Given the description of an element on the screen output the (x, y) to click on. 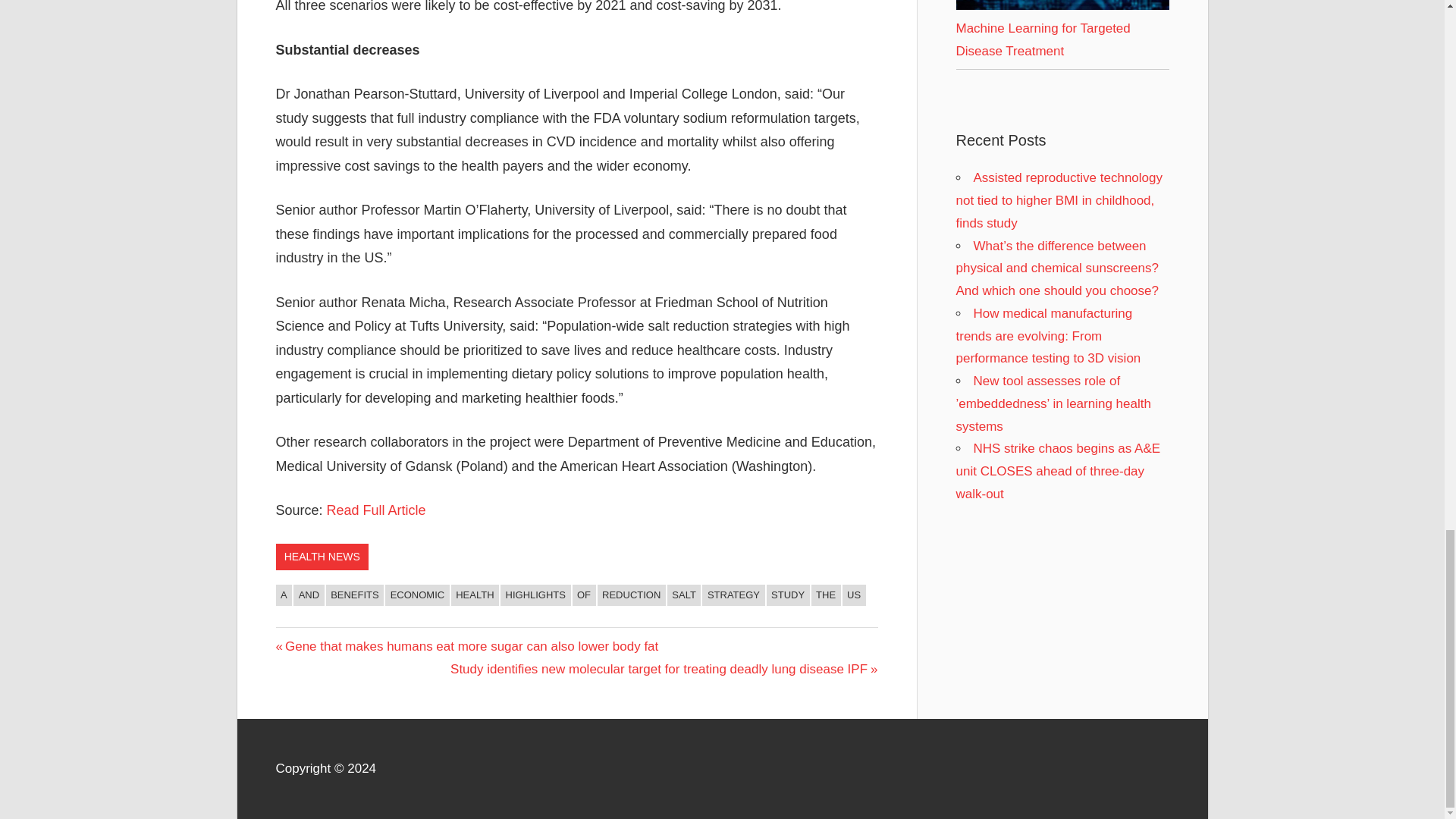
BENEFITS (355, 595)
HEALTH NEWS (322, 556)
REDUCTION (630, 595)
Read Full Article (376, 509)
HEALTH (475, 595)
Machine Learning for Targeted Disease Treatment (1062, 5)
AND (308, 595)
STRATEGY (732, 595)
